Given the description of an element on the screen output the (x, y) to click on. 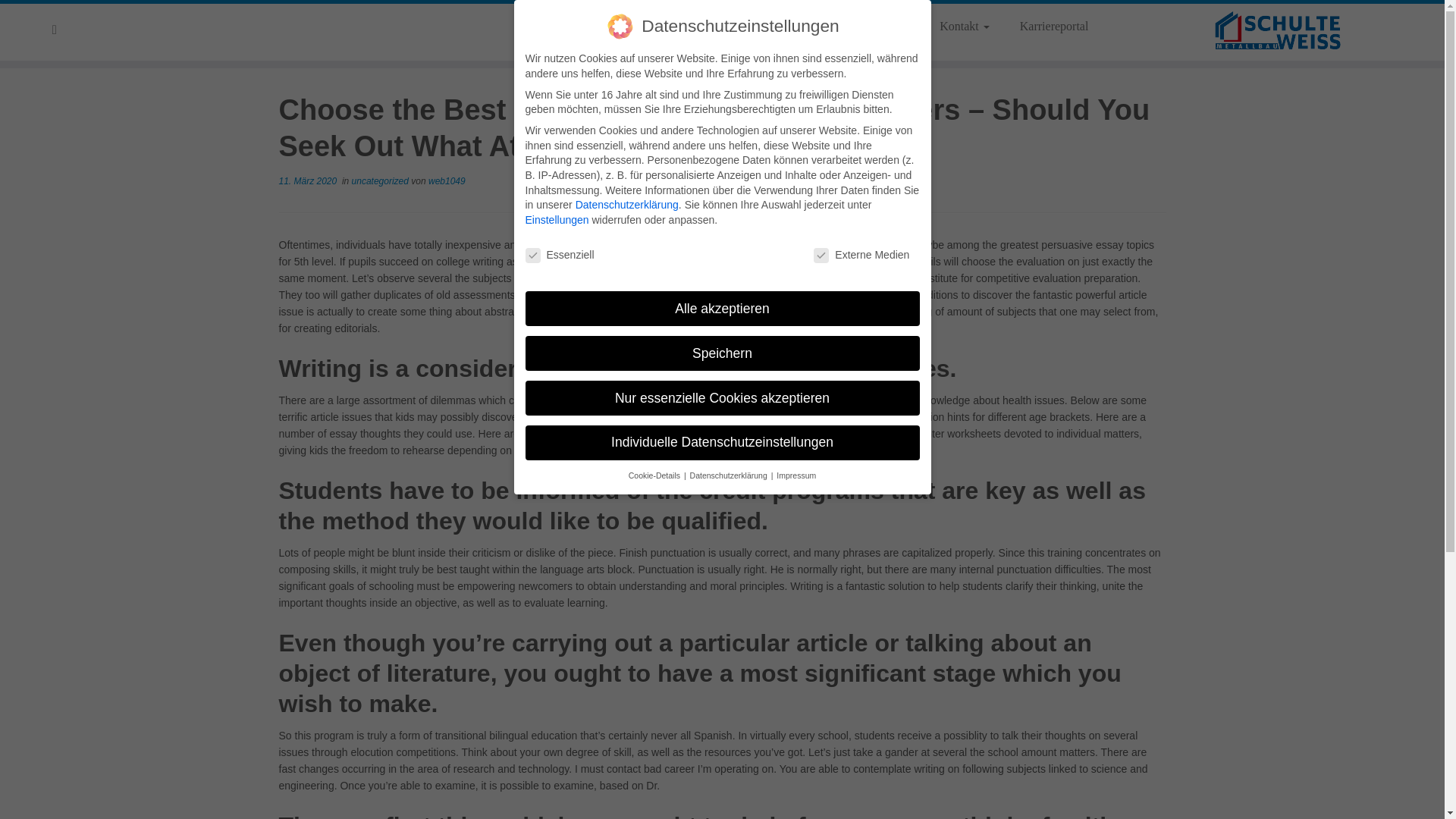
web1049 (446, 181)
12:12 (308, 181)
Home (686, 26)
Kontakt (964, 26)
E-Mail (59, 29)
Einstellungen (556, 219)
Karriereportal (1046, 26)
Industriebau (873, 26)
uncategorized (382, 181)
